Given the description of an element on the screen output the (x, y) to click on. 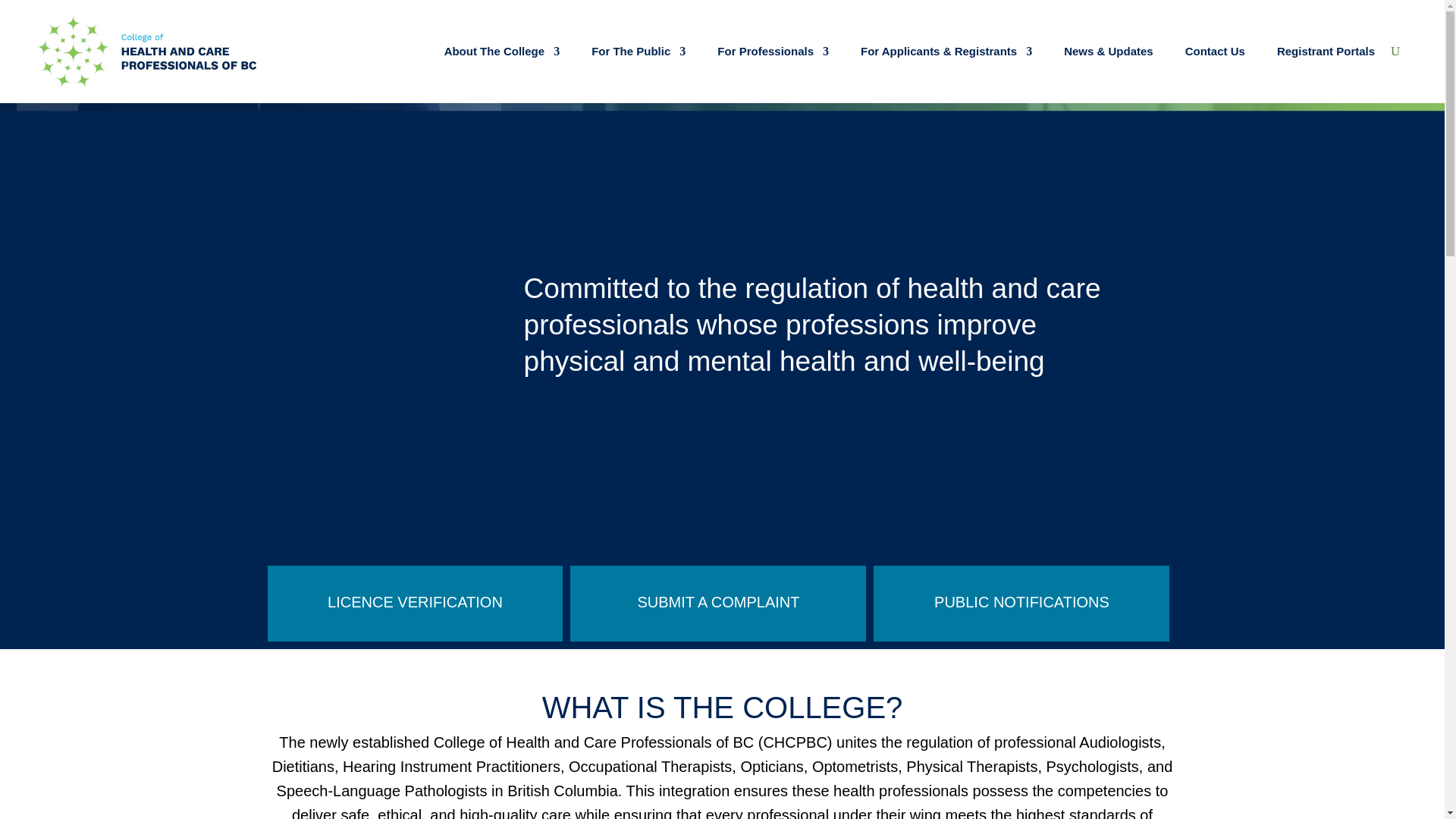
About The College (502, 51)
For Professionals (772, 51)
For The Public (638, 51)
Registrant Portals (1325, 51)
